Given the description of an element on the screen output the (x, y) to click on. 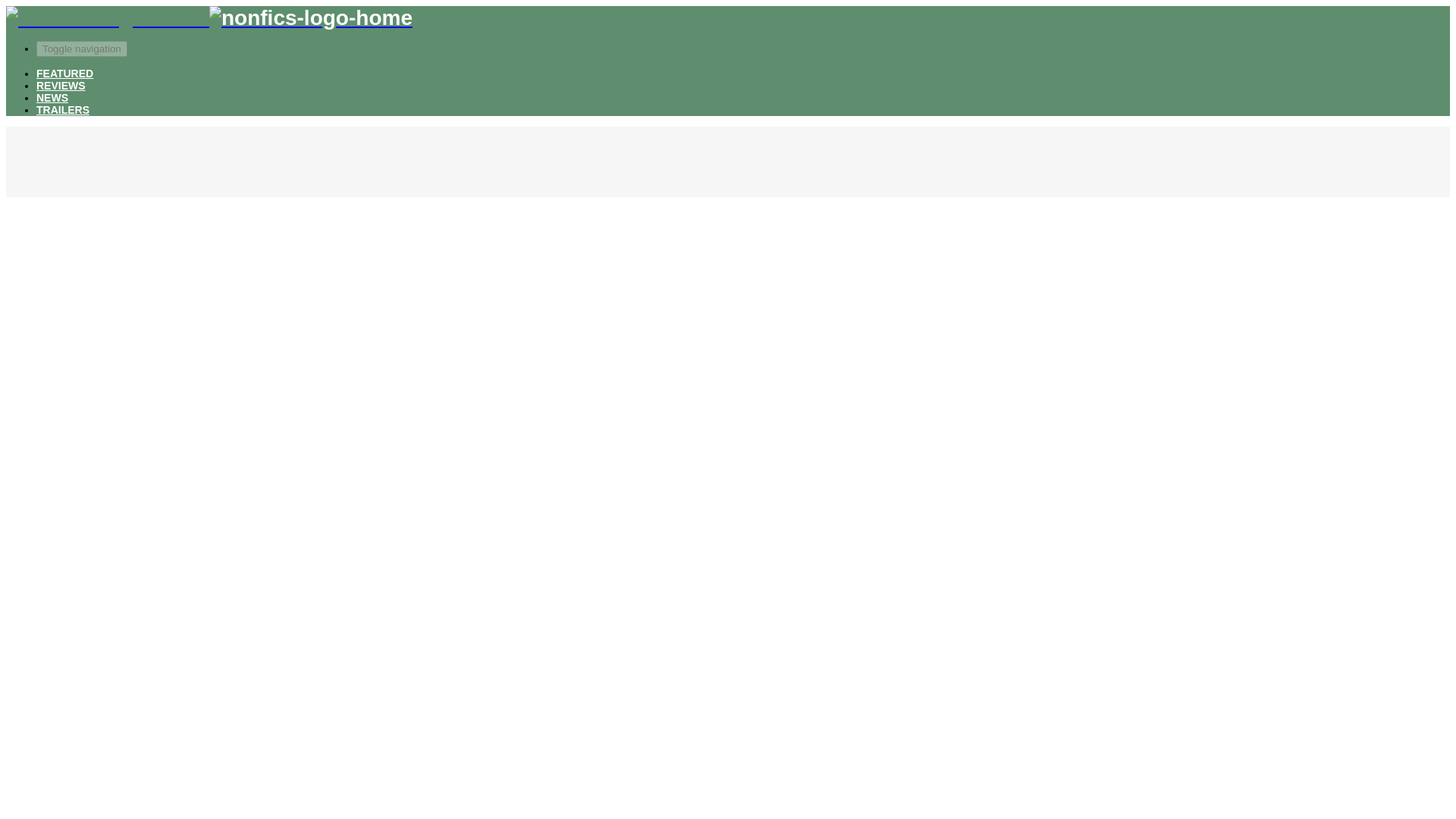
FEATURED (64, 73)
REVIEWS (60, 85)
Toggle navigation (82, 48)
TRAILERS (62, 110)
NEWS (52, 97)
